Given the description of an element on the screen output the (x, y) to click on. 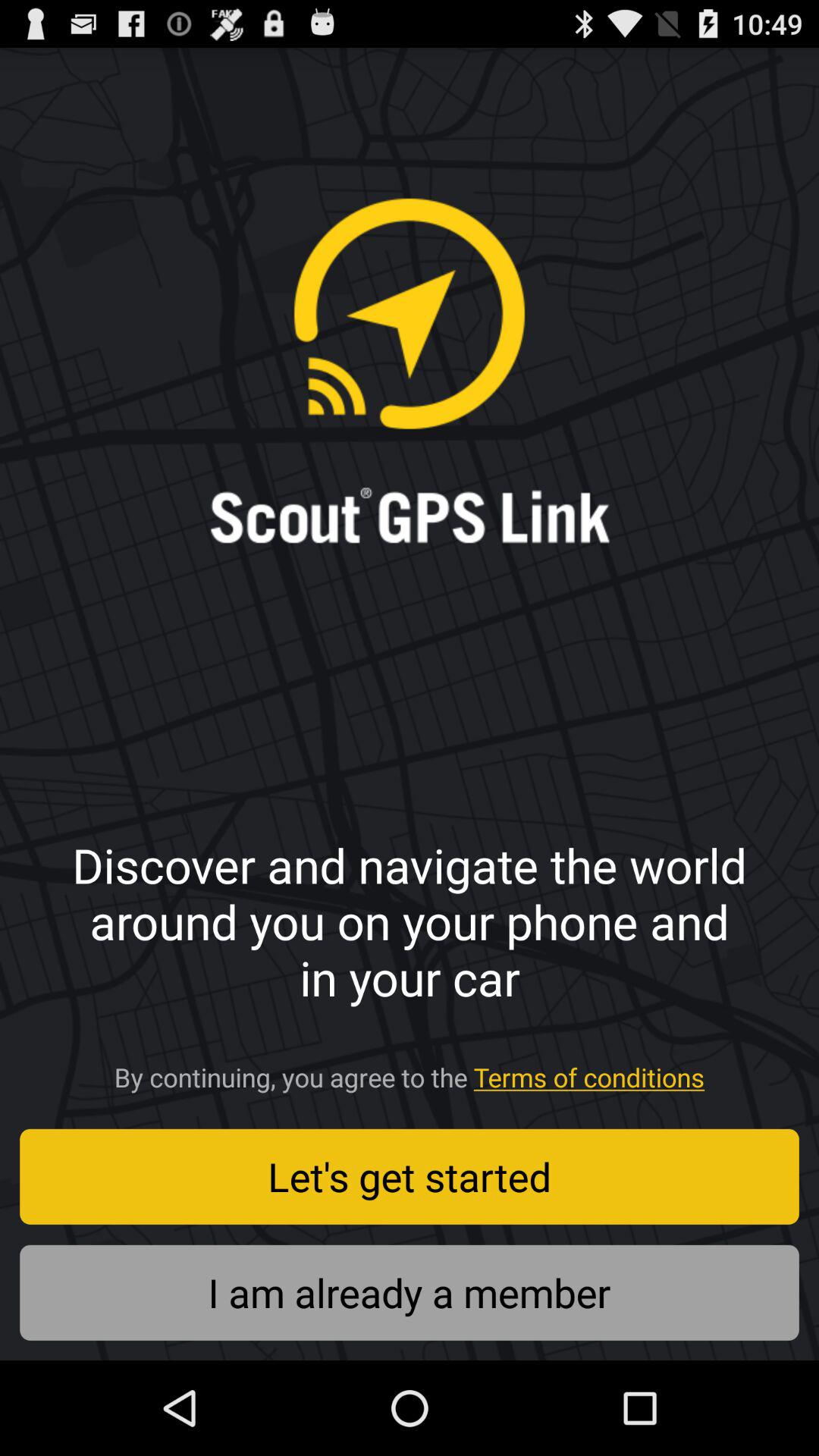
launch the by continuing you app (409, 1072)
